Given the description of an element on the screen output the (x, y) to click on. 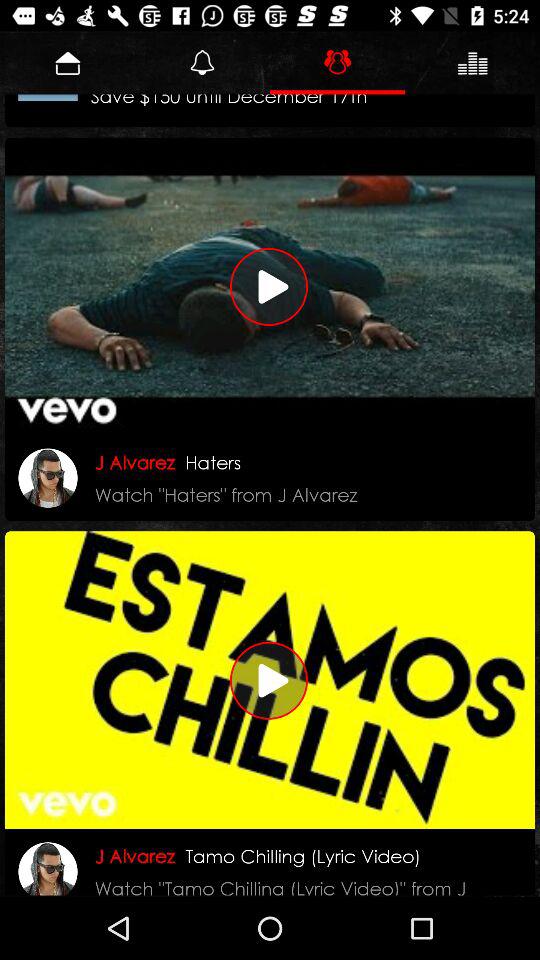
play video (269, 680)
